Given the description of an element on the screen output the (x, y) to click on. 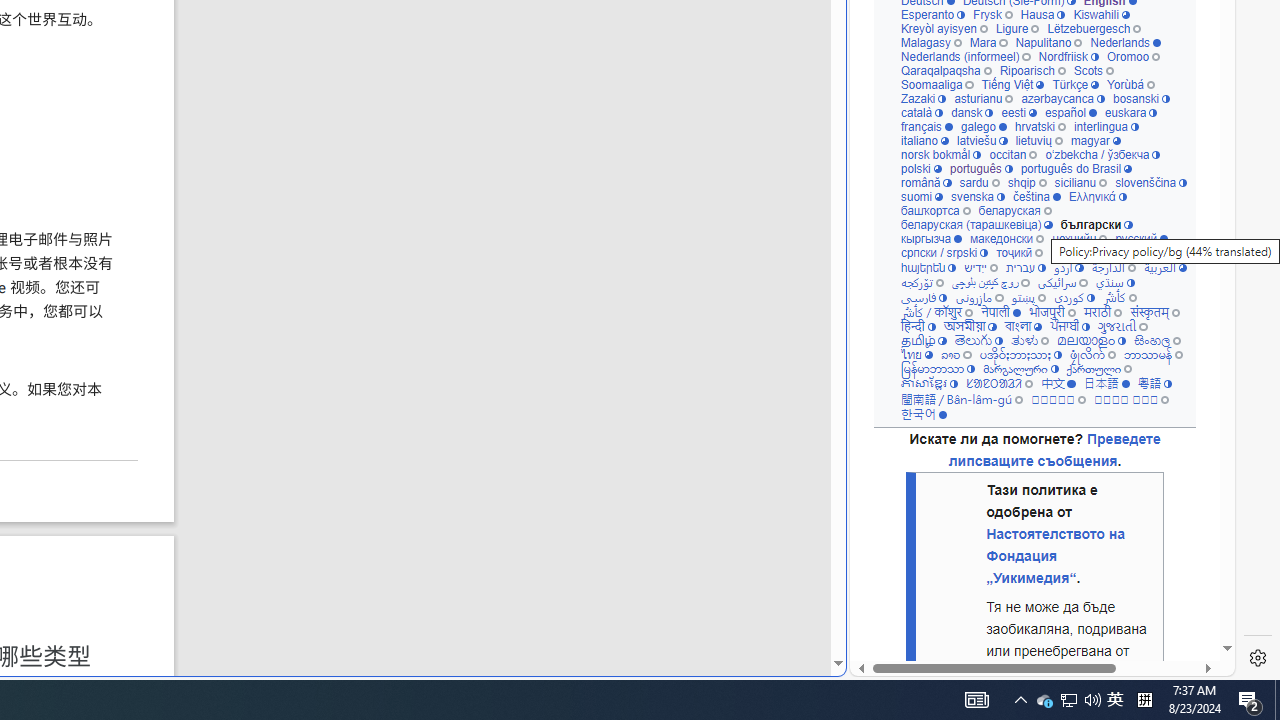
Ligure (1016, 28)
Napulitano (1048, 42)
Mara (988, 42)
